Given the description of an element on the screen output the (x, y) to click on. 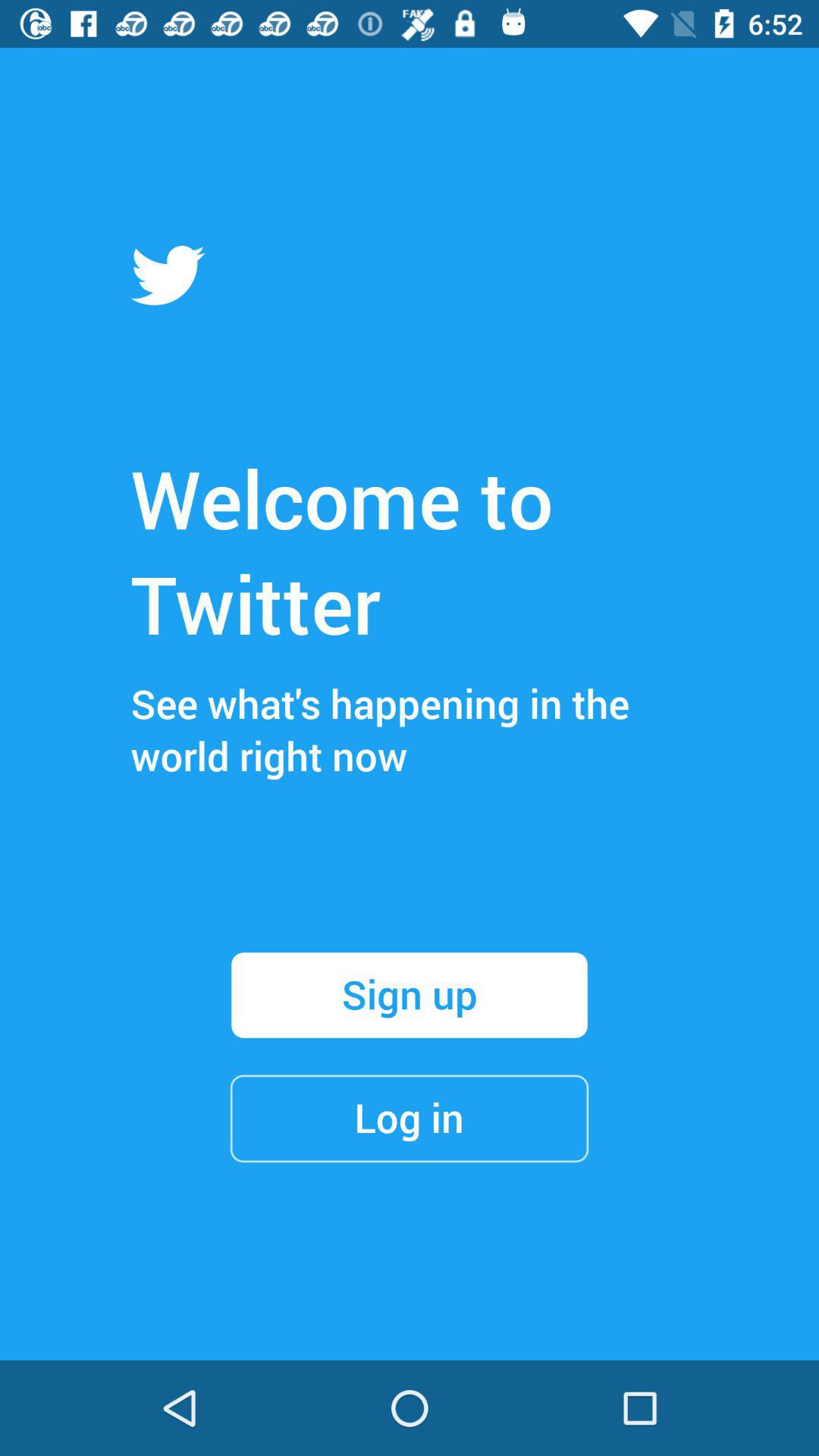
swipe to sign up item (409, 995)
